Given the description of an element on the screen output the (x, y) to click on. 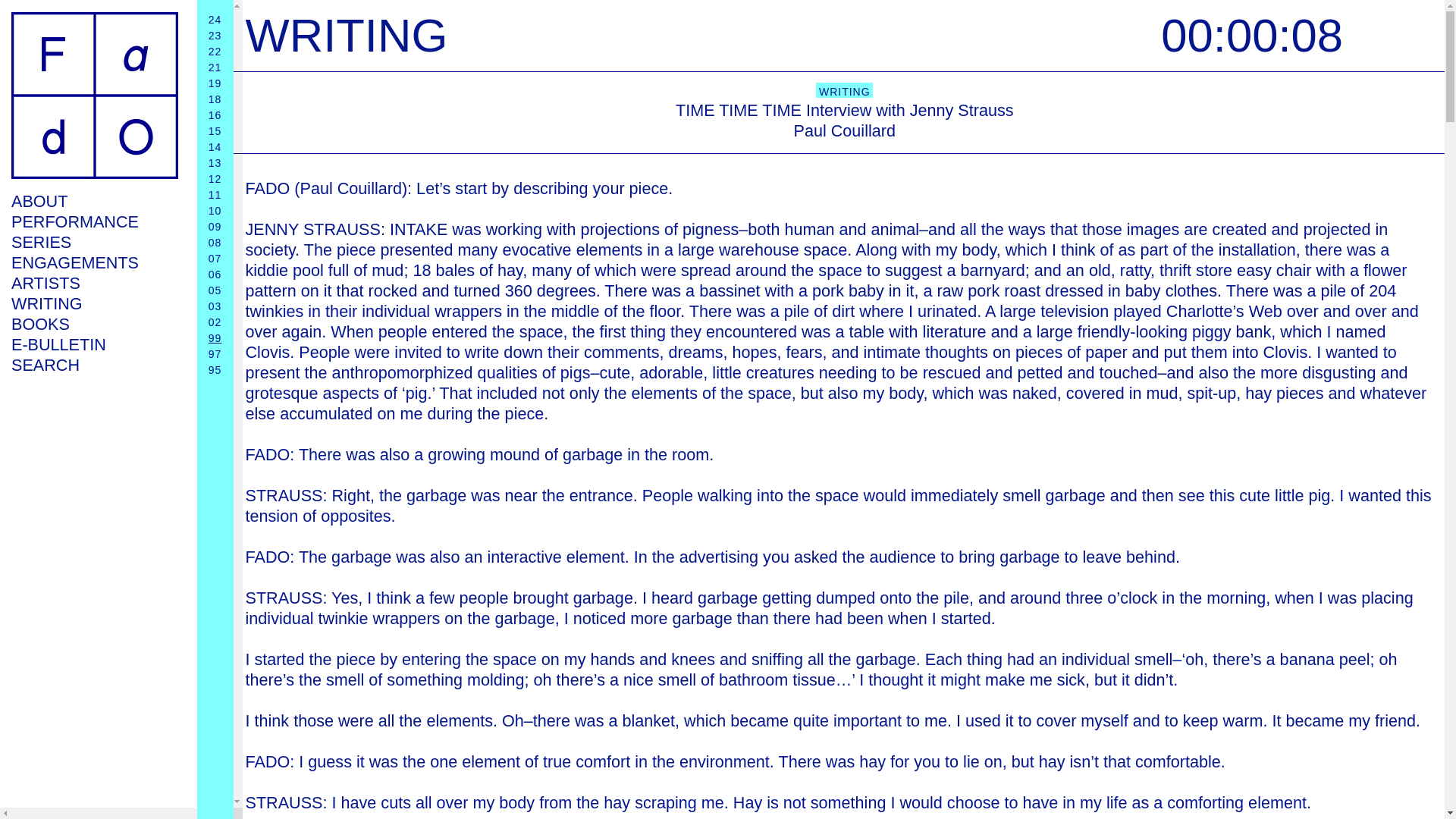
21 (215, 67)
11 (215, 194)
08 (215, 242)
ARTISTS (94, 282)
10 (215, 210)
SERIES (94, 241)
12 (215, 178)
BOOKS (94, 323)
16 (215, 114)
09 (215, 226)
24 (215, 19)
03 (215, 306)
06 (215, 274)
PERFORMANCE (94, 221)
22 (215, 51)
